Given the description of an element on the screen output the (x, y) to click on. 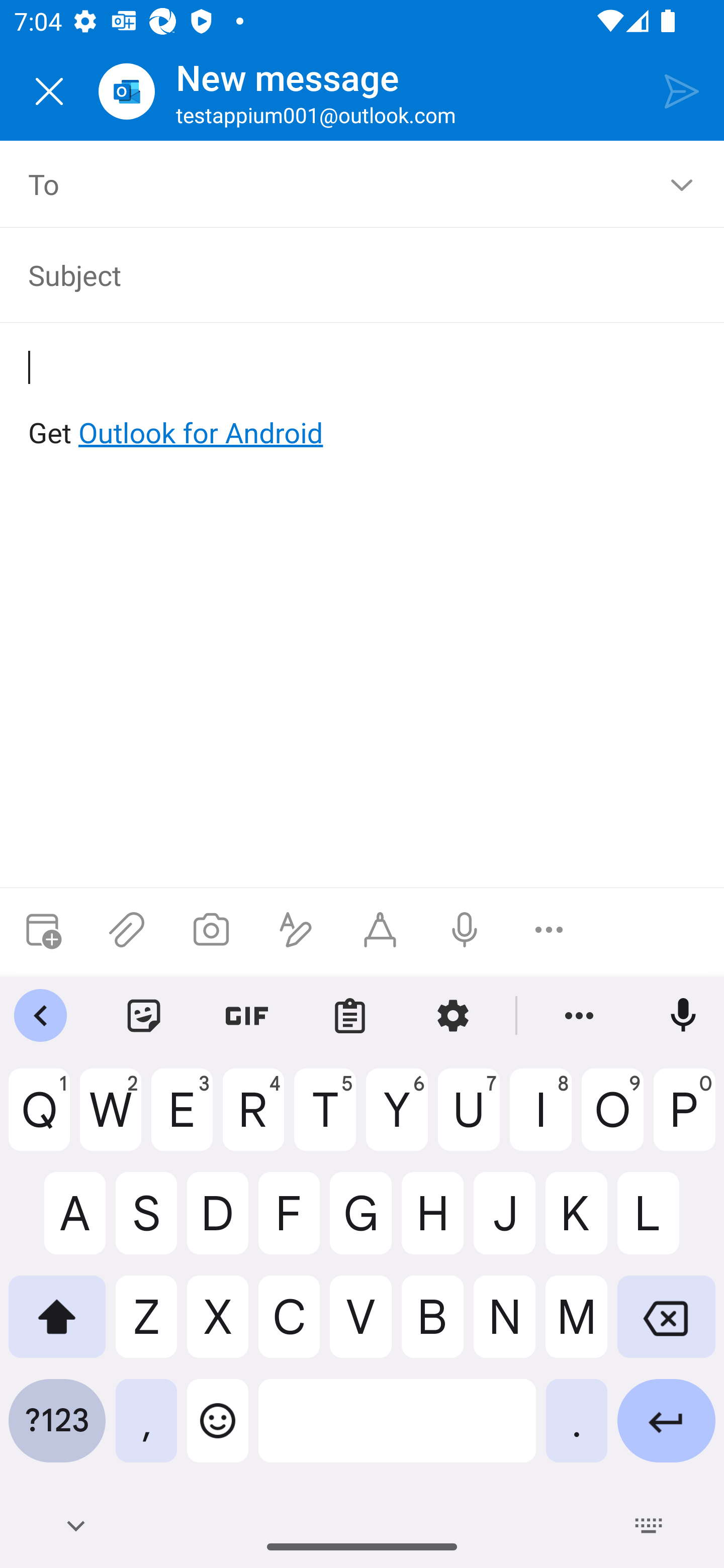
Close (49, 91)
Send (681, 90)
Subject (347, 274)


Get Outlook for Android (363, 400)
Attach meeting (42, 929)
Attach files (126, 929)
Take a photo (210, 929)
Show formatting options (295, 929)
Start Ink compose (380, 929)
Dictation (464, 929)
More options (548, 929)
